Given the description of an element on the screen output the (x, y) to click on. 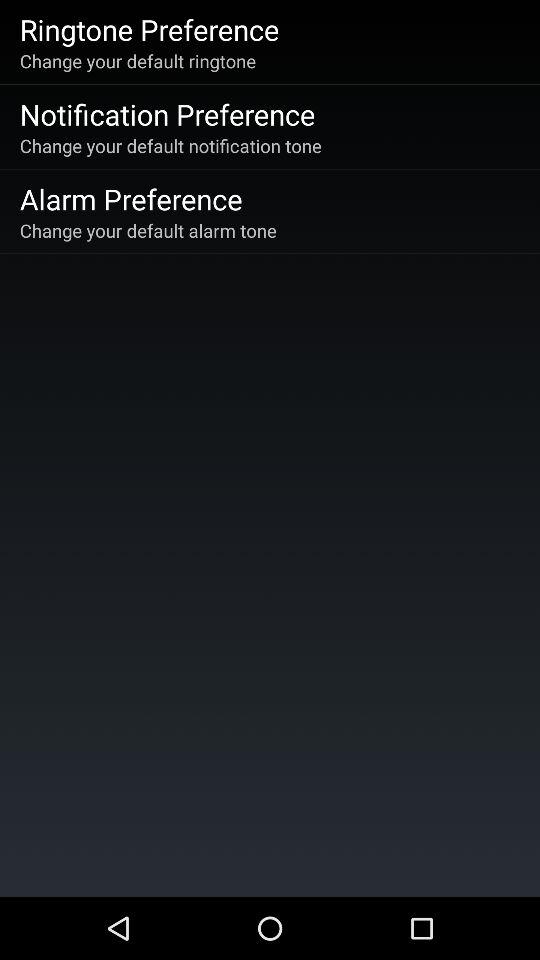
click icon below the change your default app (130, 198)
